Given the description of an element on the screen output the (x, y) to click on. 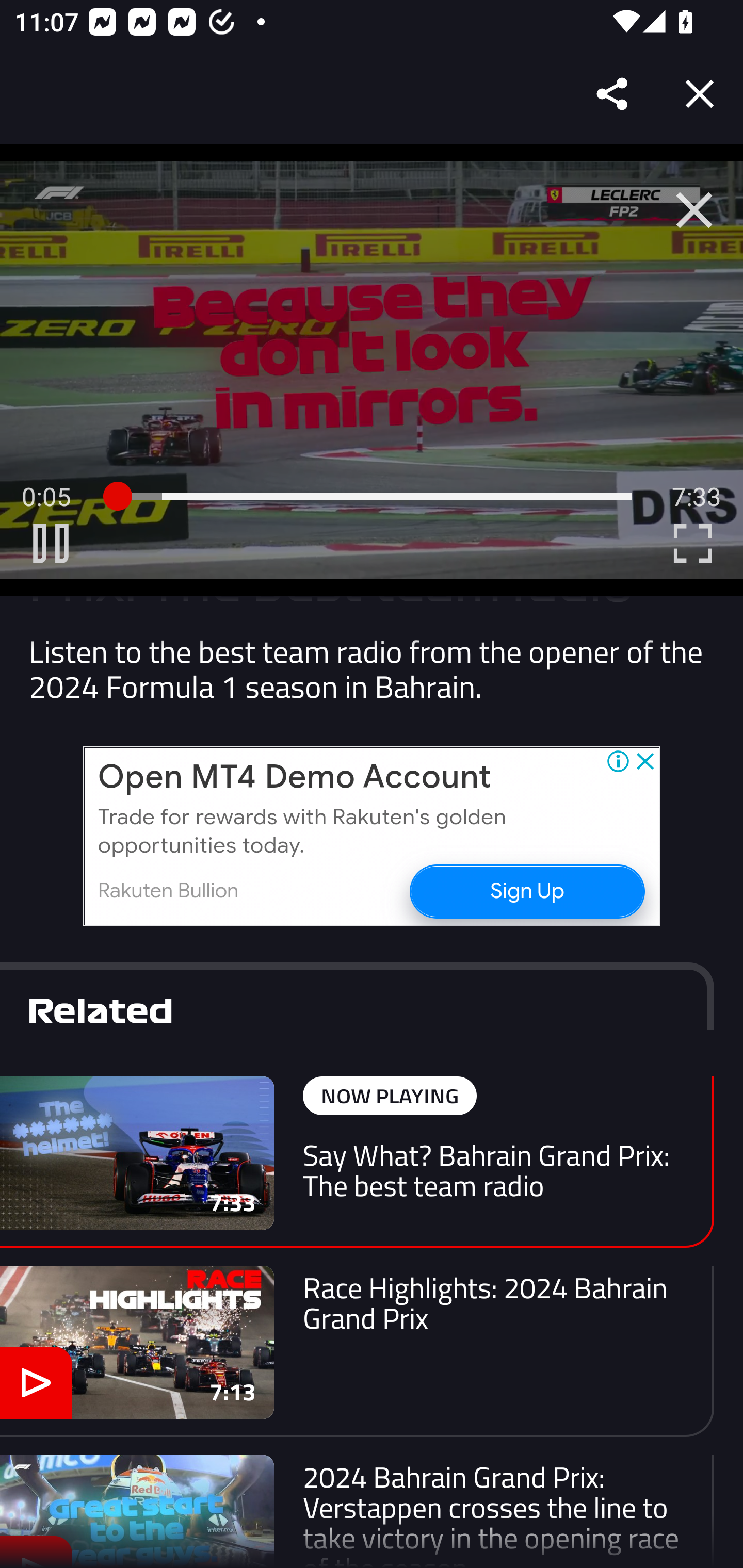
Share (612, 93)
Close (699, 93)
 Close (693, 210)
B Pause (50, 543)
C Enter Fullscreen (692, 543)
Open MT4 Demo Account (294, 777)
Sign Up (526, 890)
Rakuten Bullion (168, 891)
7:13 Race Highlights: 2024 Bahrain Grand Prix (357, 1350)
